Given the description of an element on the screen output the (x, y) to click on. 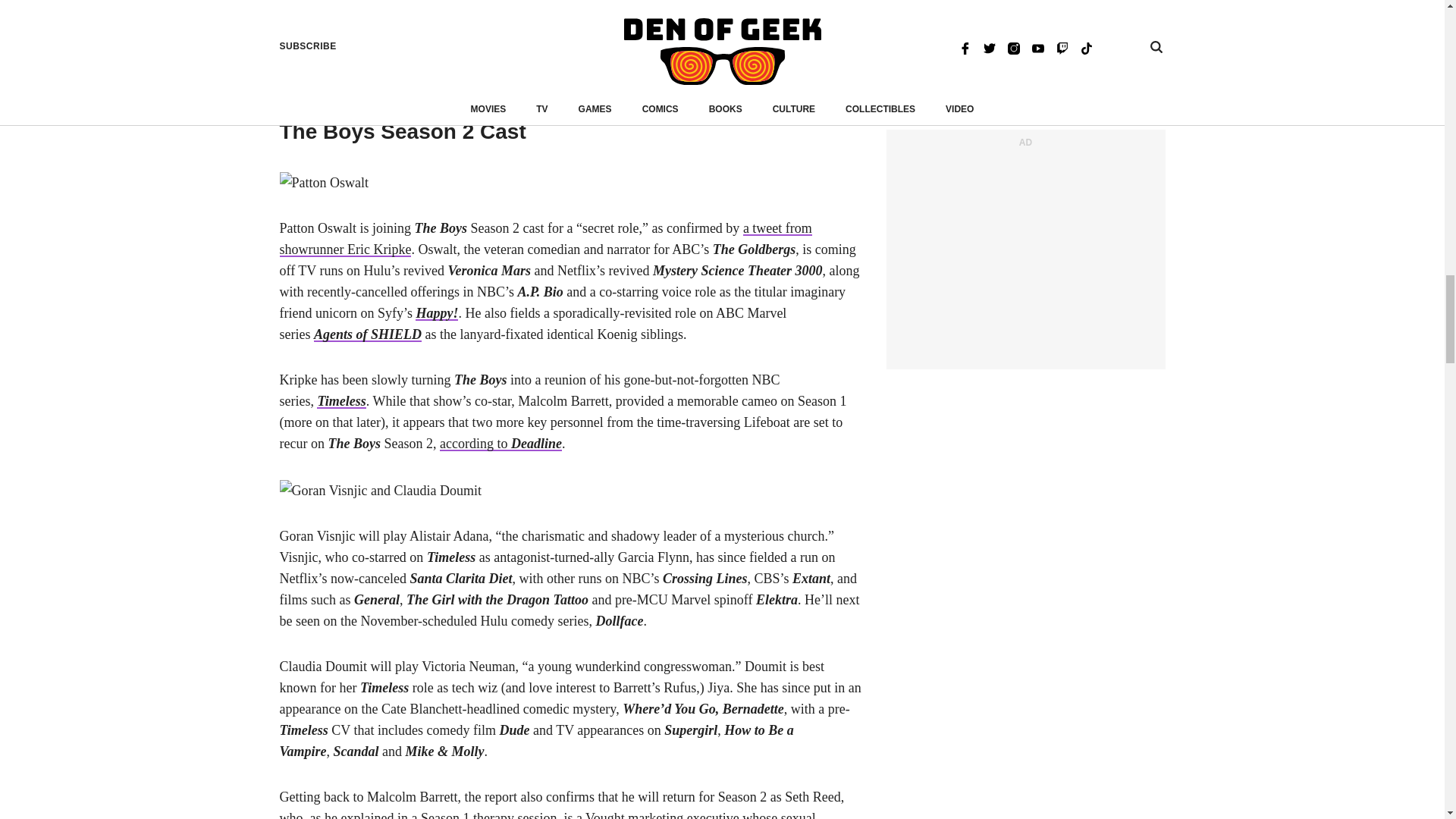
Eric Kripke's Twitter (544, 238)
Deadline (500, 443)
Agents of SHIELD Season 7 Trailer Arrives  (368, 334)
Timeless News on Den of Geek (341, 400)
Happy! Canceled After Two Seasons on Syfy  (436, 313)
